Given the description of an element on the screen output the (x, y) to click on. 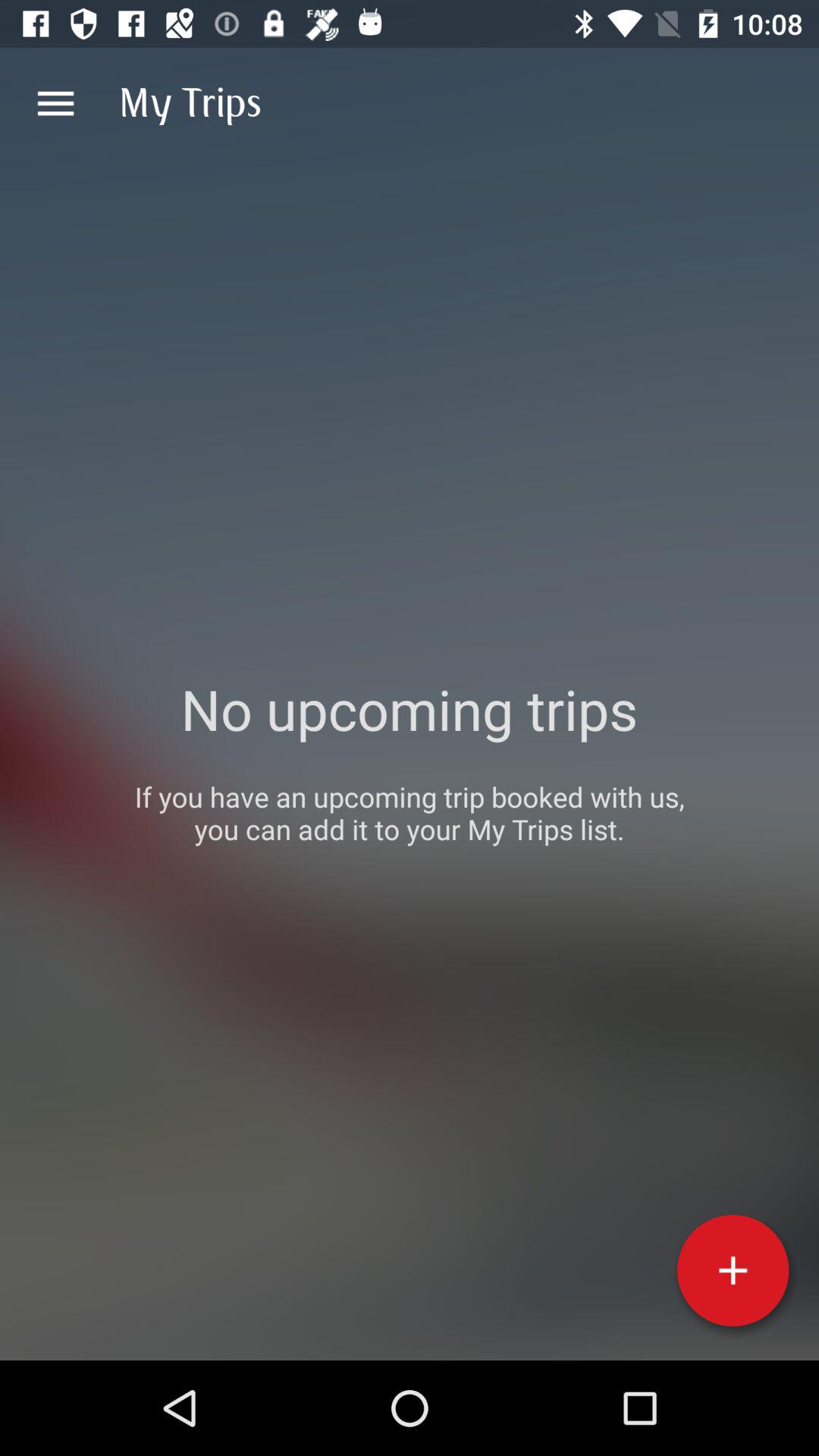
open options (55, 103)
